Given the description of an element on the screen output the (x, y) to click on. 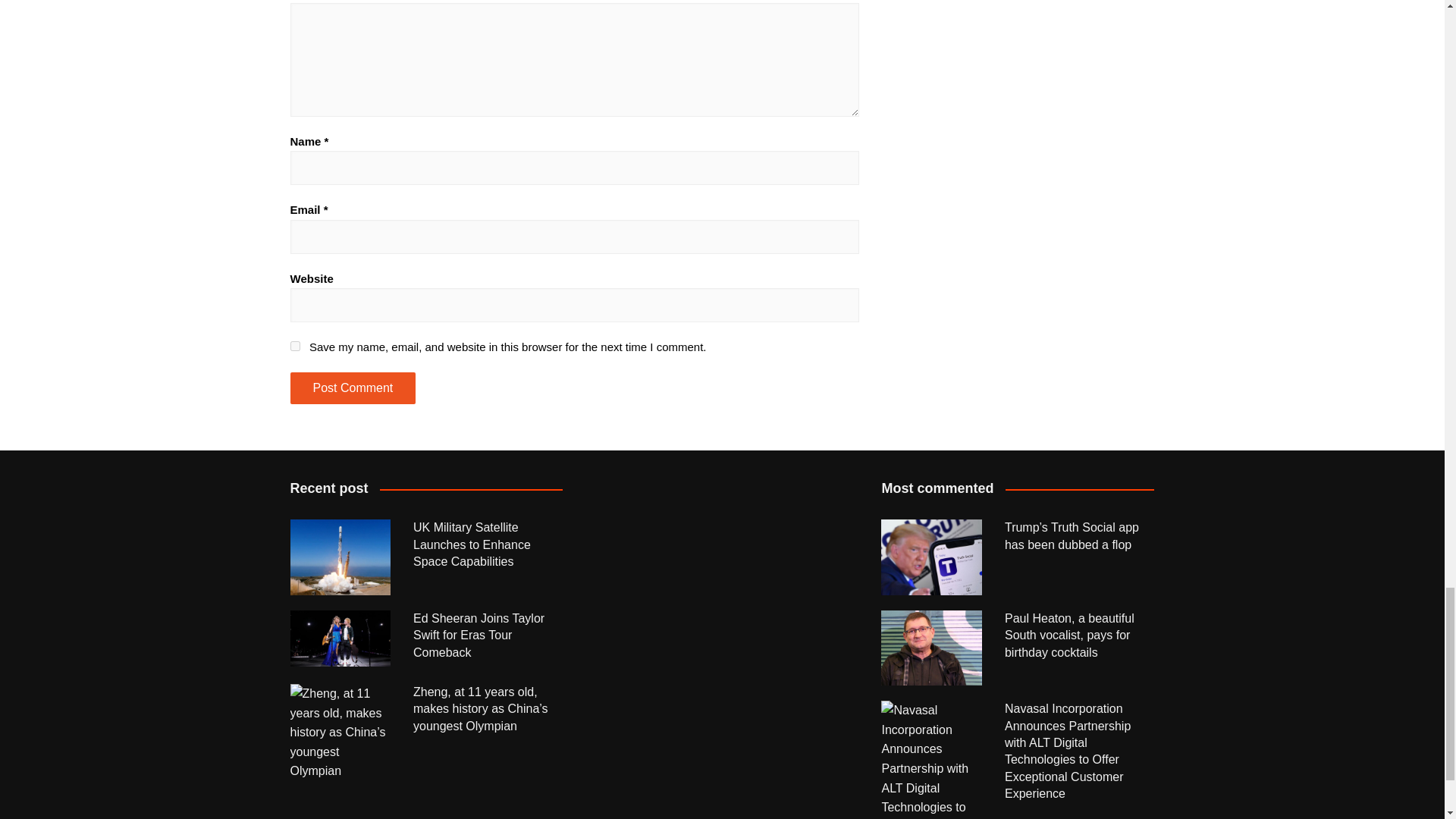
Post Comment (351, 388)
yes (294, 346)
Post Comment (351, 388)
